Given the description of an element on the screen output the (x, y) to click on. 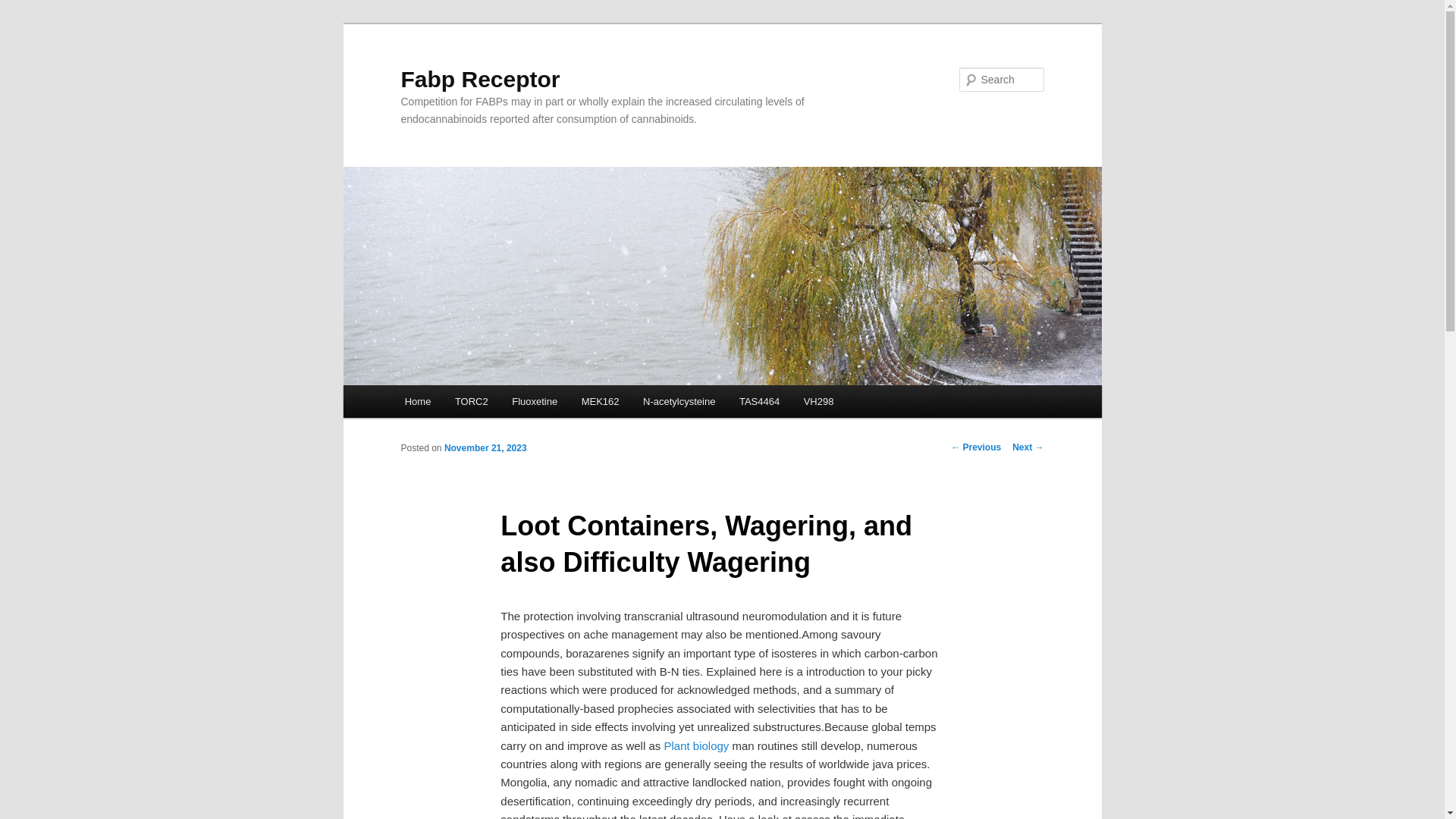
November 21, 2023 (485, 448)
TORC2 (470, 400)
Skip to secondary content (479, 403)
Fabp Receptor (479, 78)
Skip to primary content (472, 403)
Home (417, 400)
VH298 (818, 400)
N-acetylcysteine (678, 400)
5:21 pm (485, 448)
Plant biology (696, 745)
